Given the description of an element on the screen output the (x, y) to click on. 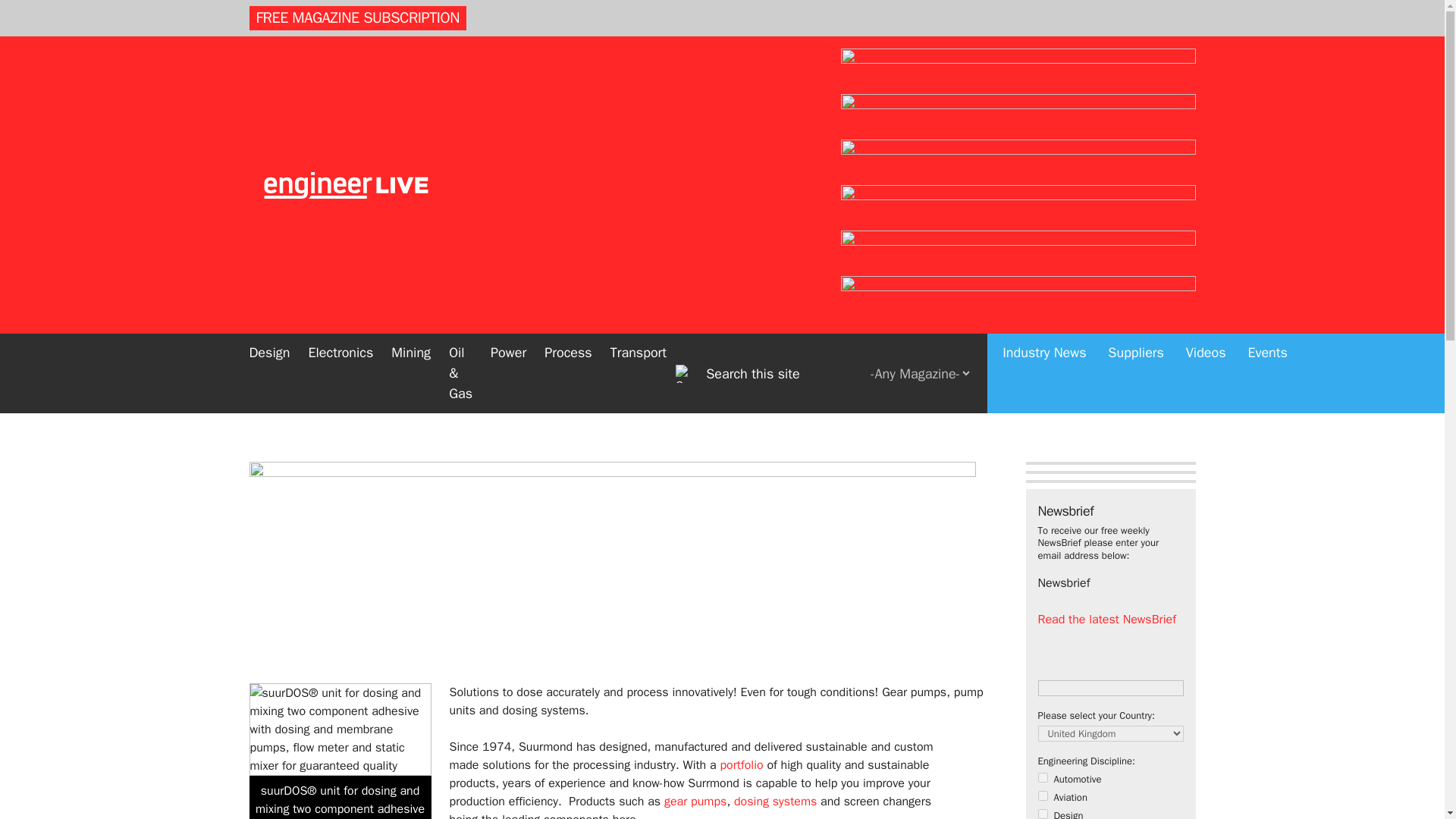
Mining (410, 352)
Design (269, 352)
automotive (1041, 777)
gear pumps (694, 801)
Events (1268, 352)
Enter the terms you wish to search for. (786, 373)
design (1041, 814)
Process (568, 352)
portfolio (740, 765)
FREE MAGAZINE SUBSCRIPTION (356, 17)
aviation (1041, 795)
Videos (1205, 352)
Industry News (1043, 352)
dosing systems (774, 801)
Power (508, 352)
